Given the description of an element on the screen output the (x, y) to click on. 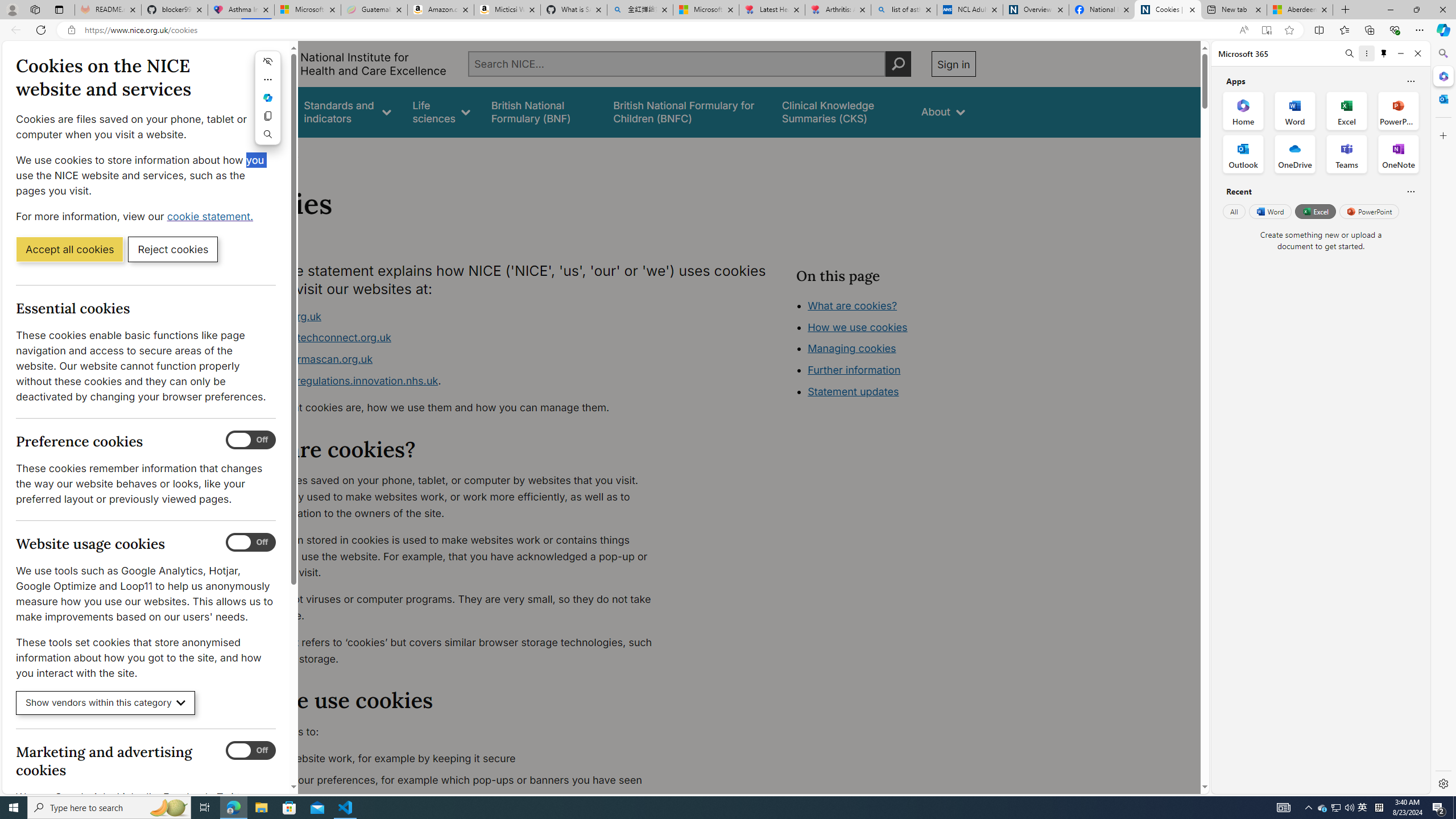
Statement updates (853, 391)
Mini menu on text selection (267, 104)
www.digitalregulations.innovation.nhs.uk (338, 380)
www.healthtechconnect.org.uk (314, 337)
Perform search (898, 63)
Close cookie banner (273, 56)
Class: in-page-nav__list (884, 349)
www.digitalregulations.innovation.nhs.uk. (452, 380)
